Given the description of an element on the screen output the (x, y) to click on. 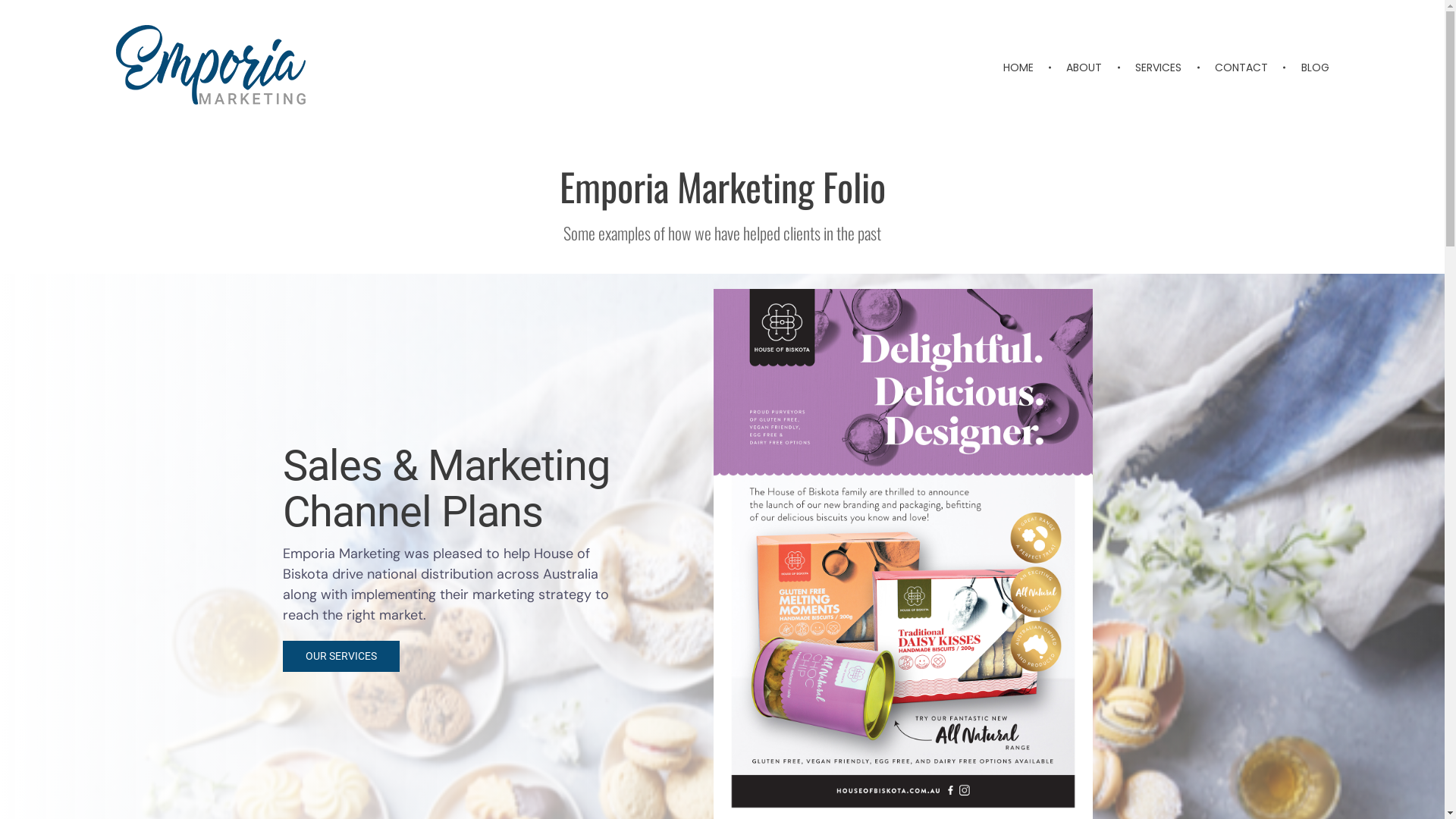
Emporia Marketing Element type: text (197, 129)
HOME Element type: text (1026, 67)
BLOG Element type: text (1307, 67)
ABOUT Element type: text (1086, 67)
Emporia Marketing Element type: hover (209, 66)
OUR SERVICES Element type: text (340, 655)
CONTACT Element type: text (1243, 67)
SERVICES Element type: text (1161, 67)
